Given the description of an element on the screen output the (x, y) to click on. 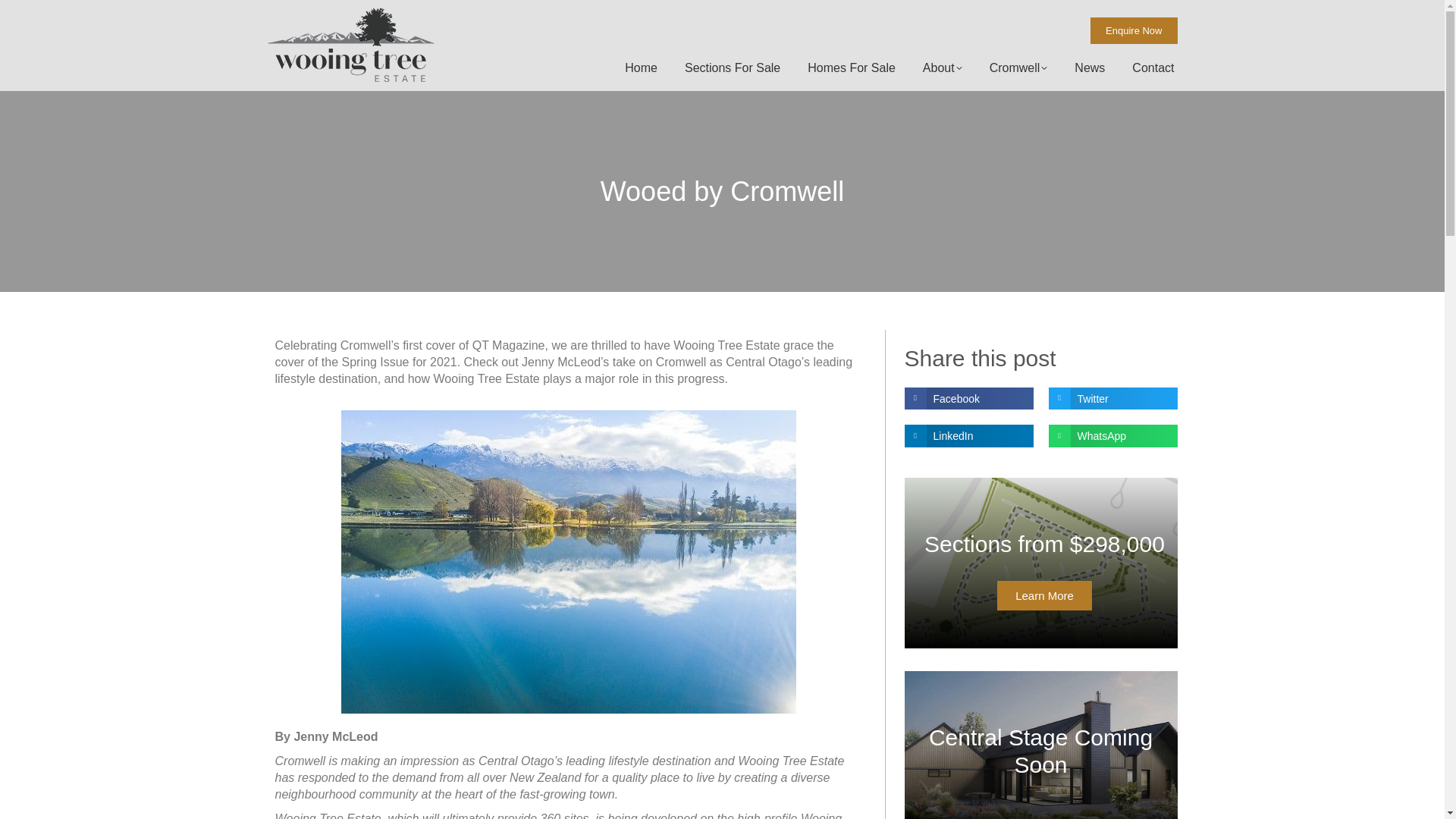
News (1089, 67)
About (942, 67)
Contact (1152, 67)
Sections For Sale (732, 67)
Home (641, 67)
Cromwell (1019, 67)
Homes For Sale (851, 67)
Enquire Now (1133, 29)
